Given the description of an element on the screen output the (x, y) to click on. 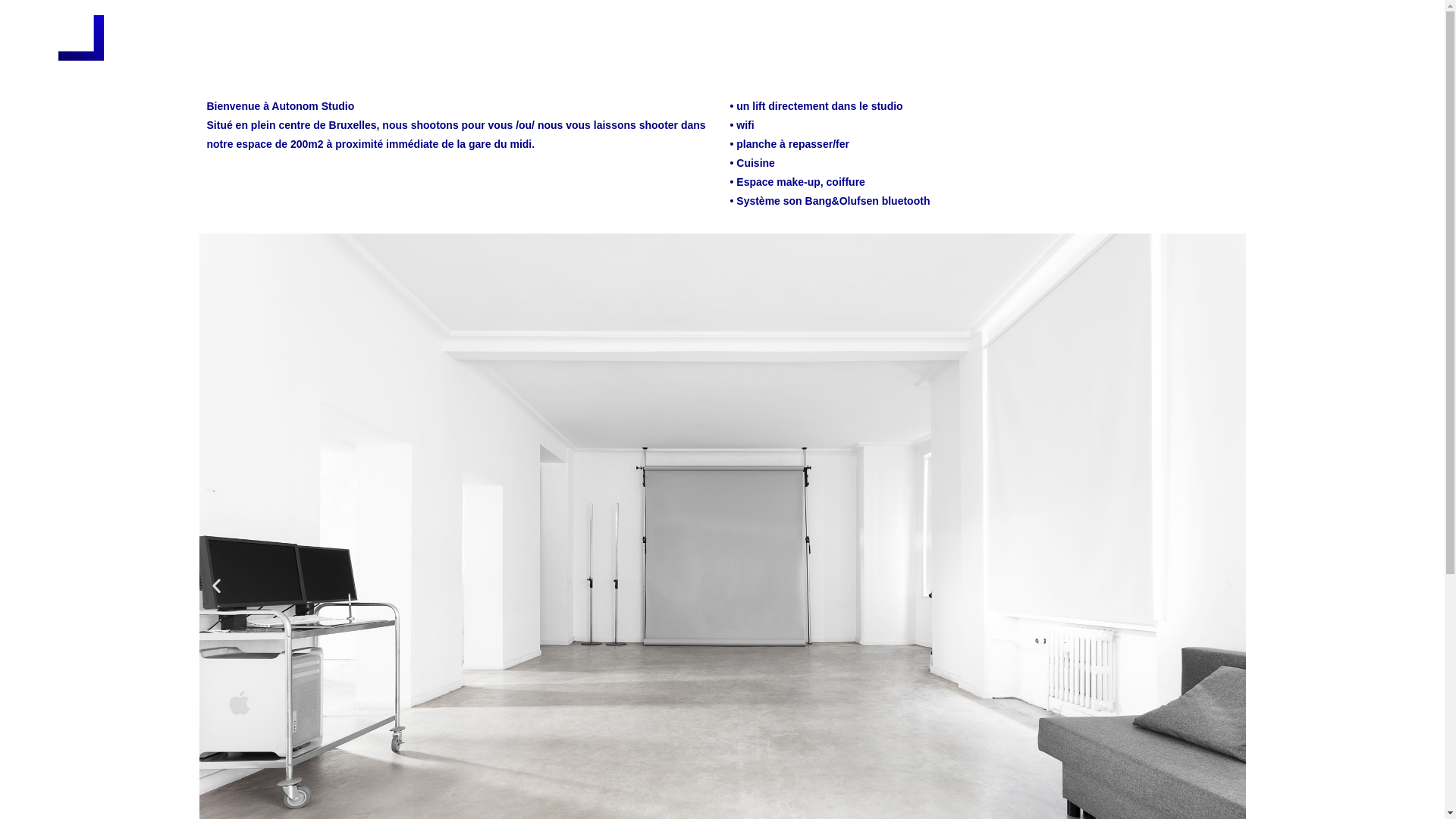
cropped-Fichier-1.png Element type: hover (80, 37)
